Given the description of an element on the screen output the (x, y) to click on. 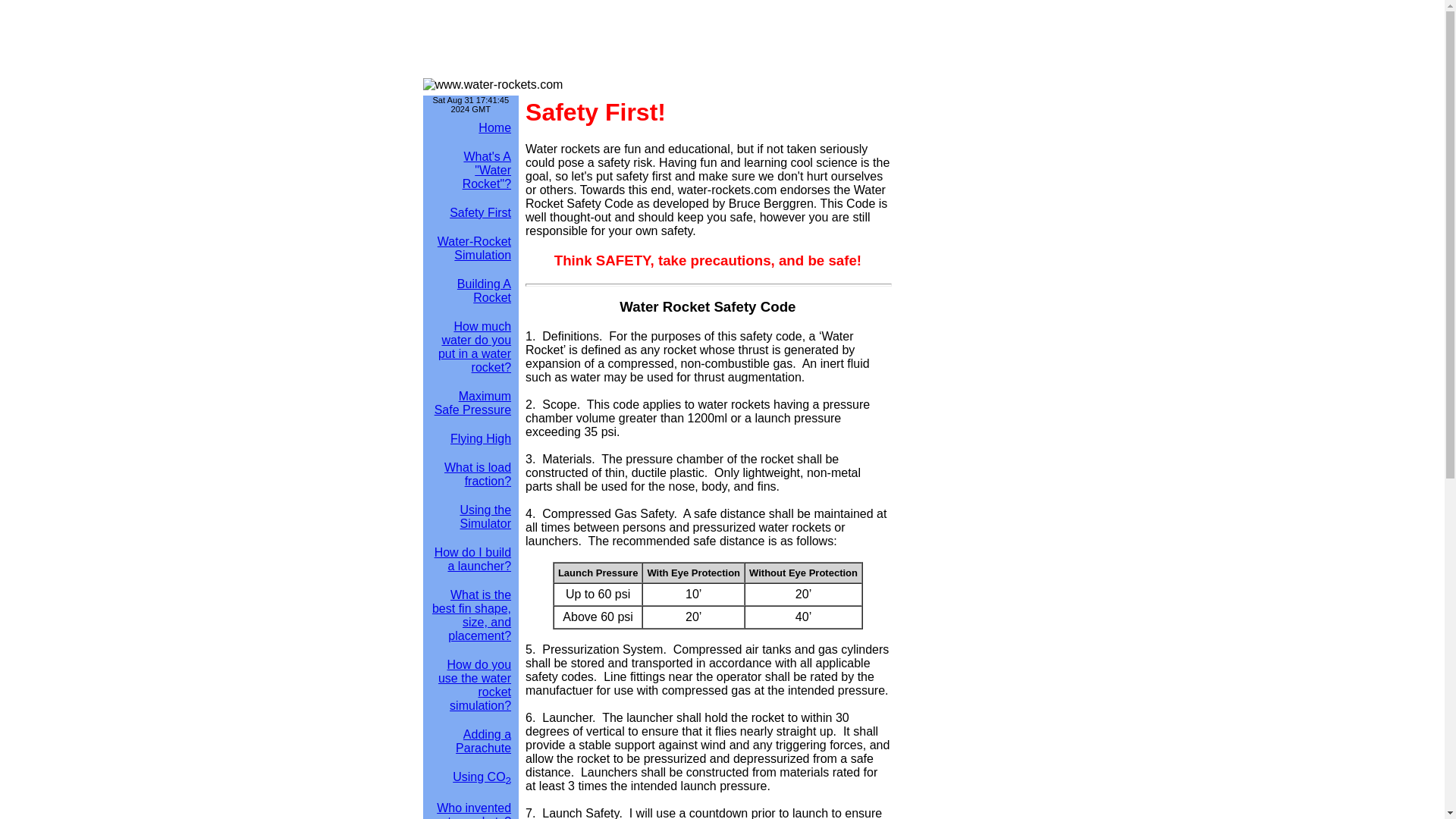
How much water do you put in a water rocket? (474, 346)
Water-Rocket Simulation (474, 248)
Flying High (480, 438)
Using CO2 (481, 776)
Safety First (480, 212)
Adding a Parachute (483, 741)
Building A Rocket (484, 290)
What is load fraction? (477, 474)
How do you use the water rocket simulation? (474, 684)
Home (495, 127)
